Given the description of an element on the screen output the (x, y) to click on. 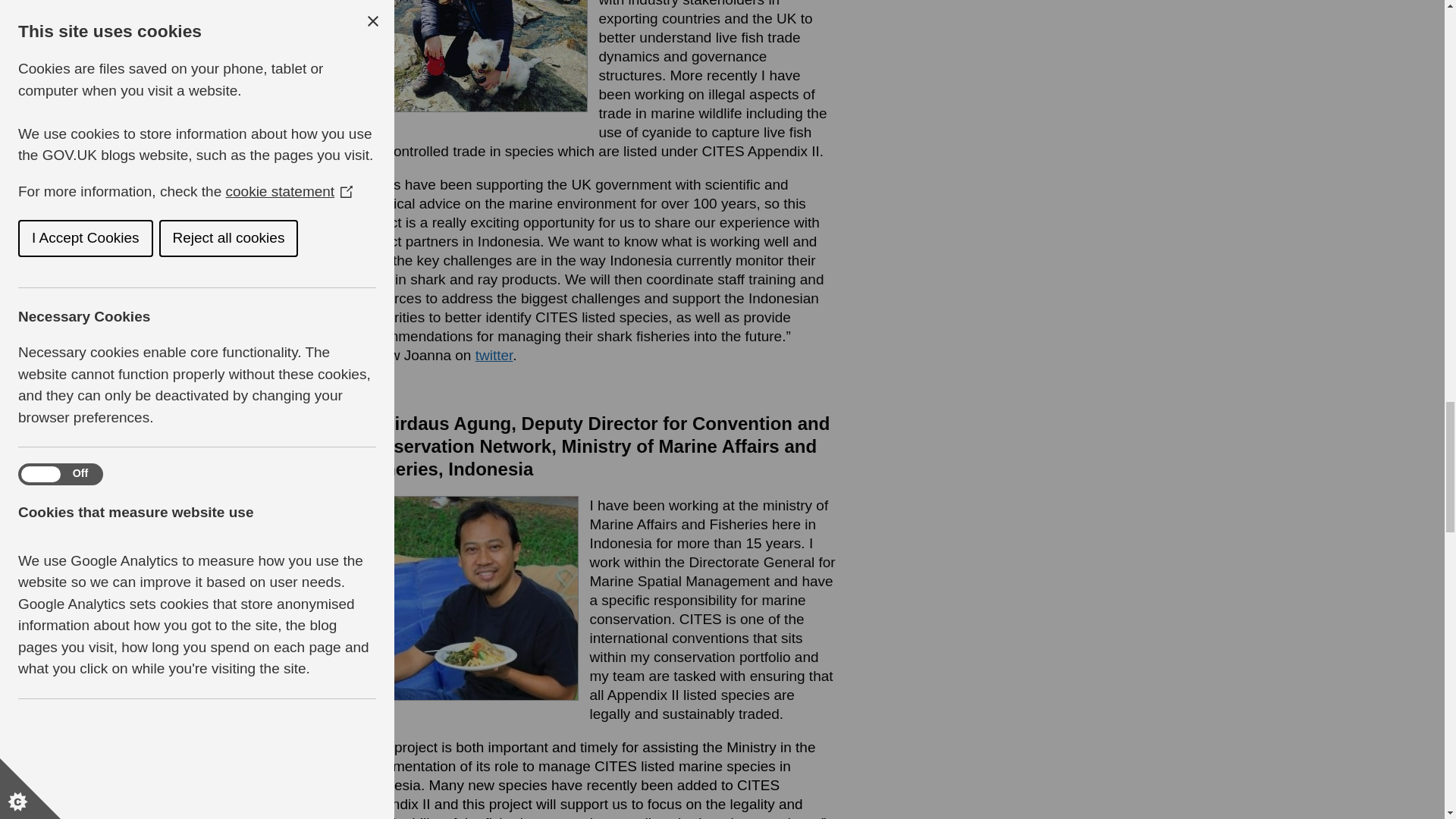
twitter (494, 355)
